Given the description of an element on the screen output the (x, y) to click on. 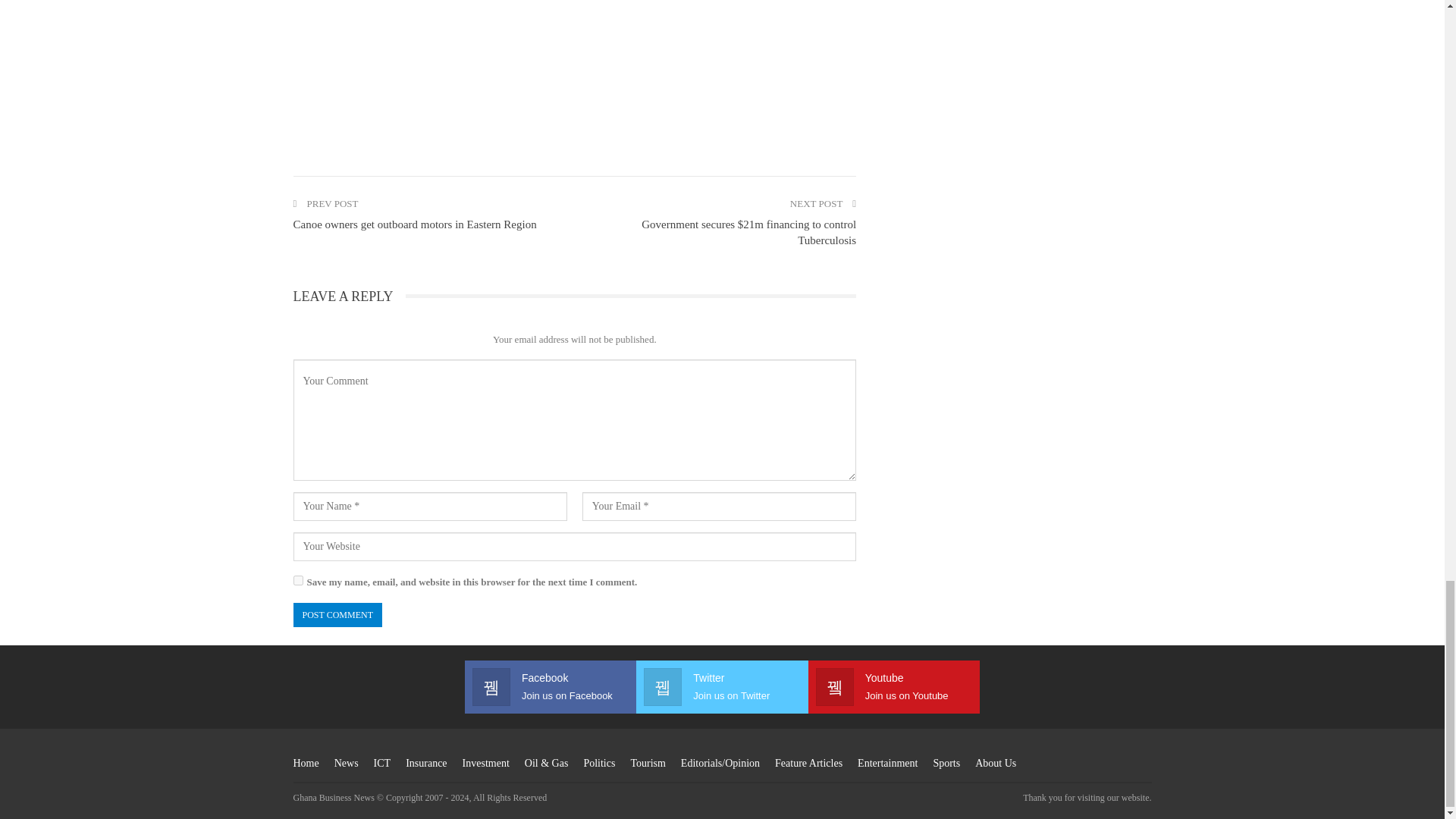
Post Comment (336, 615)
Post Comment (336, 615)
Canoe owners get outboard motors in Eastern Region (413, 224)
yes (297, 580)
